Given the description of an element on the screen output the (x, y) to click on. 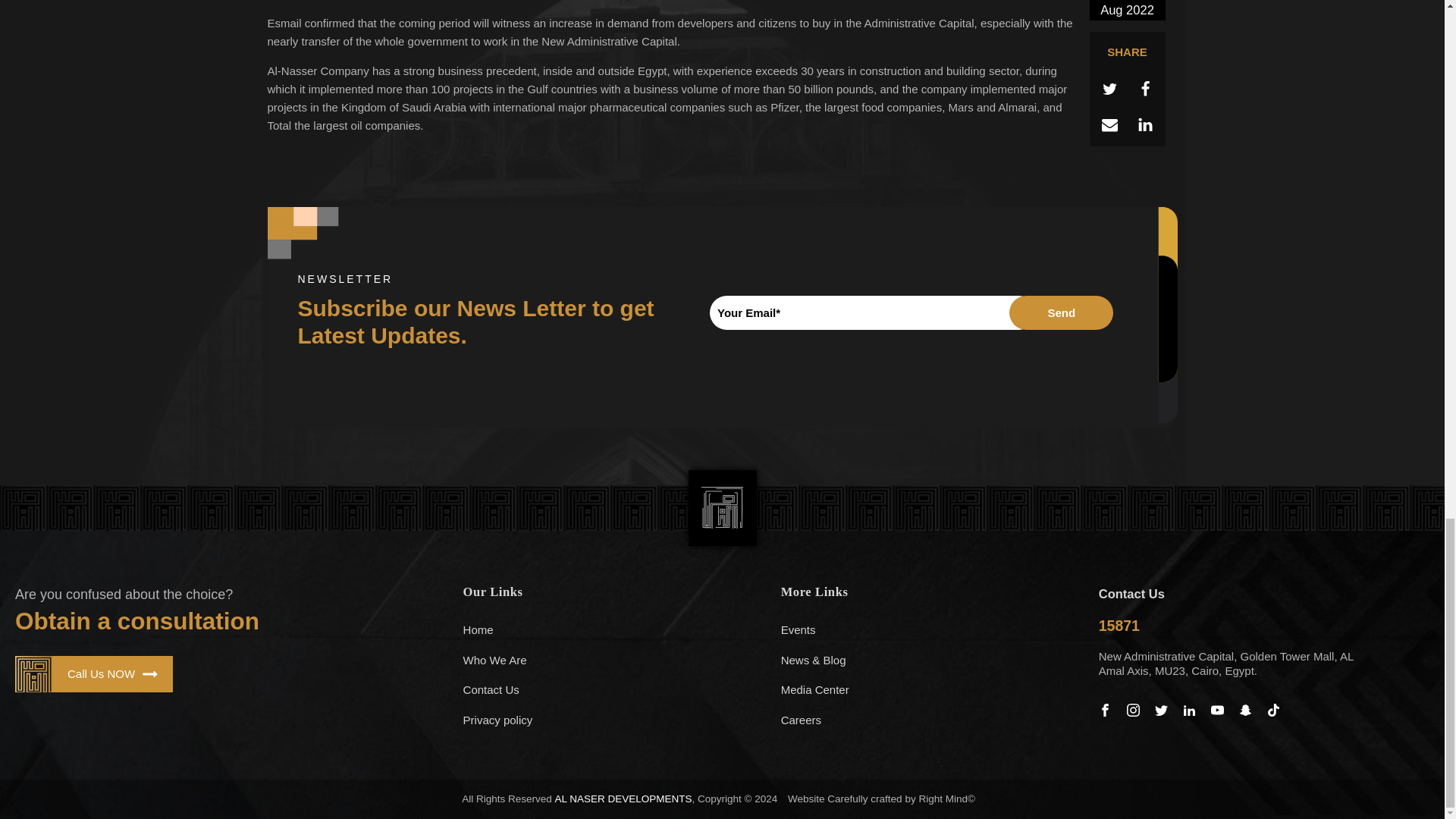
Call Us NOW (93, 673)
Careers (924, 720)
Contact Us (607, 689)
Events (924, 630)
Send (1061, 312)
Home (607, 630)
Send (1061, 312)
Privacy policy (607, 720)
Who We Are (607, 660)
